Given the description of an element on the screen output the (x, y) to click on. 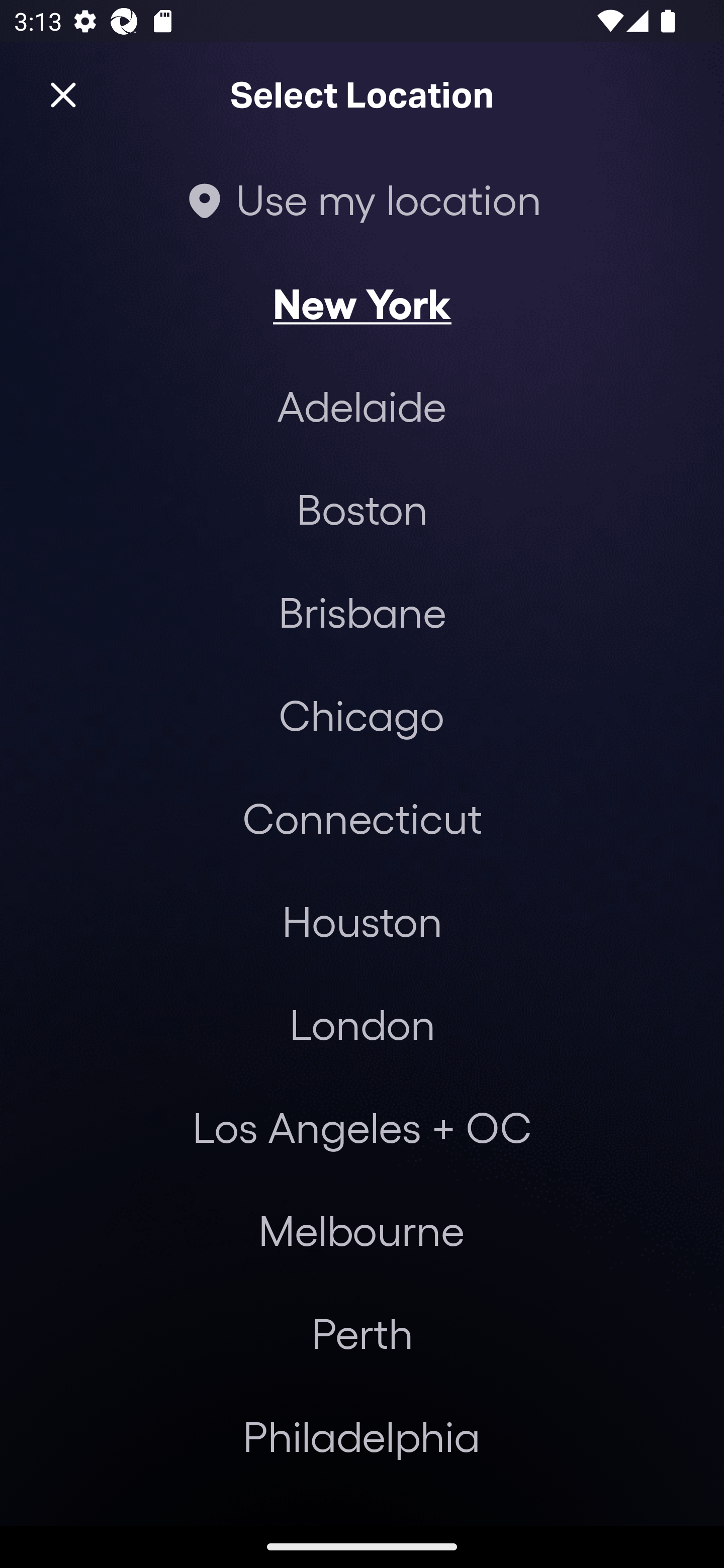
Close (62, 95)
   Use my location (362, 198)
New York (361, 302)
Adelaide (361, 405)
Boston (361, 508)
Brisbane (361, 611)
Chicago (361, 714)
Connecticut (361, 817)
Houston (361, 920)
London (361, 1023)
Los Angeles + OC (361, 1127)
Melbourne (361, 1230)
Perth (361, 1332)
Philadelphia (361, 1436)
